Given the description of an element on the screen output the (x, y) to click on. 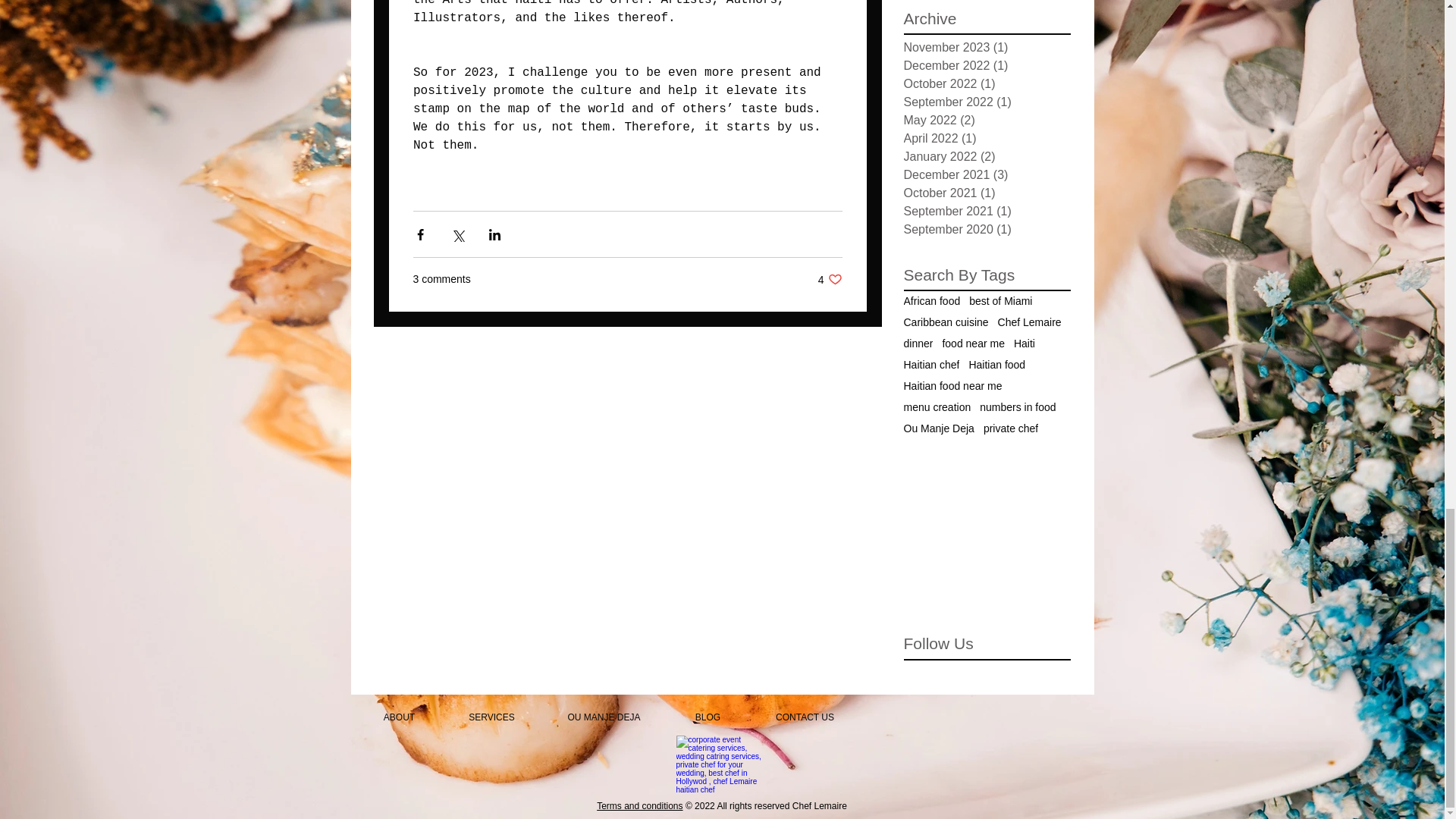
best of Miami (1000, 300)
Caribbean cuisine (830, 278)
African food (946, 322)
